Given the description of an element on the screen output the (x, y) to click on. 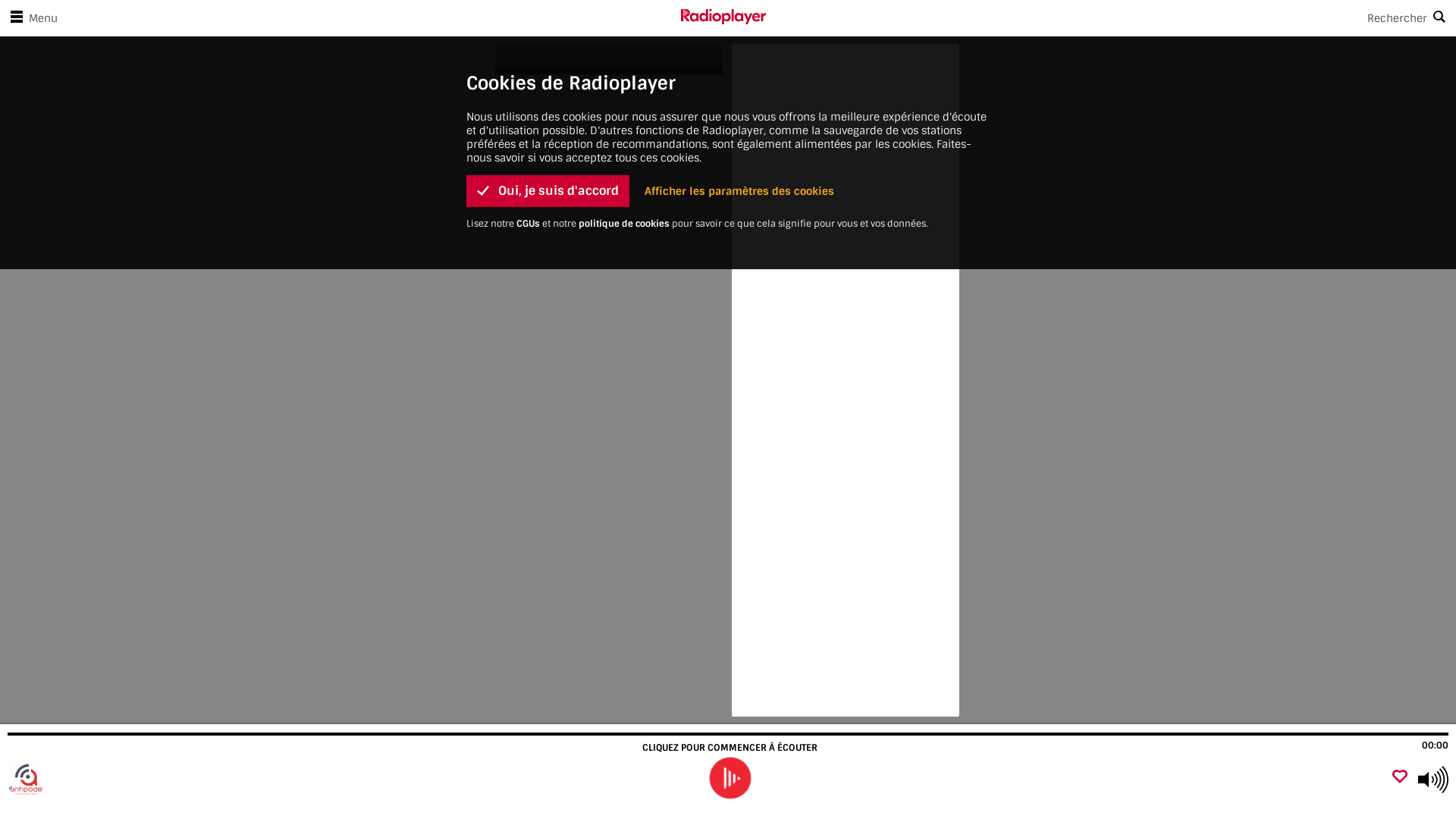
politique de cookies Element type: text (623, 223)
Widgets Element type: hover (845, 379)
LABEL_SKIP_LINK_CONTENT Element type: text (340, 9)
Menu Element type: text (31, 17)
LABEL_SKIP_LINK_CONTROLS Element type: text (340, 9)
CGUs Element type: text (527, 223)
Oui, je suis d'accord Element type: text (547, 191)
